Given the description of an element on the screen output the (x, y) to click on. 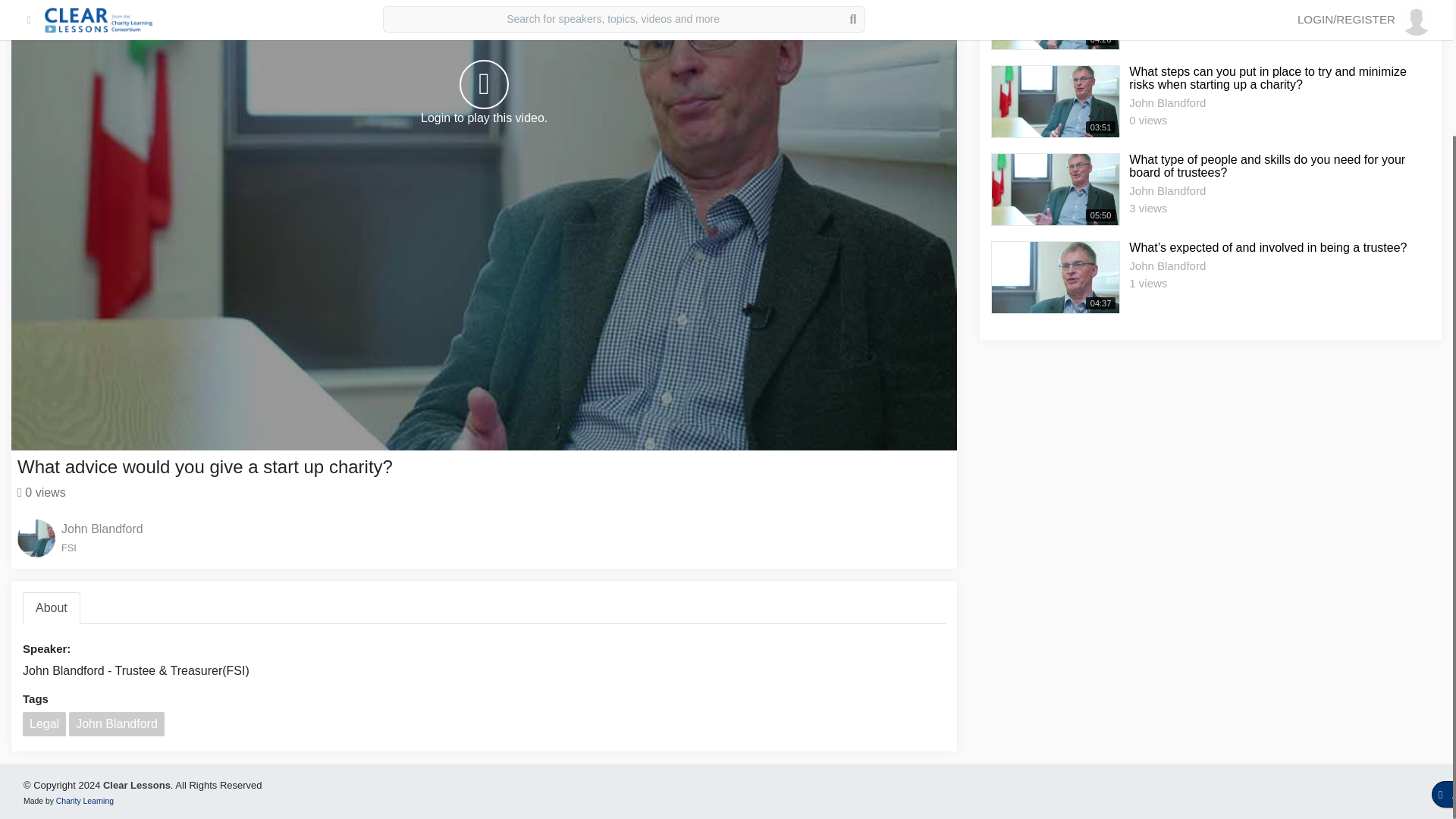
John Blandford (116, 723)
Legal (44, 723)
0 views (41, 492)
Charity Learning (84, 800)
FSI (101, 547)
About (51, 608)
John Blandford (101, 528)
